Given the description of an element on the screen output the (x, y) to click on. 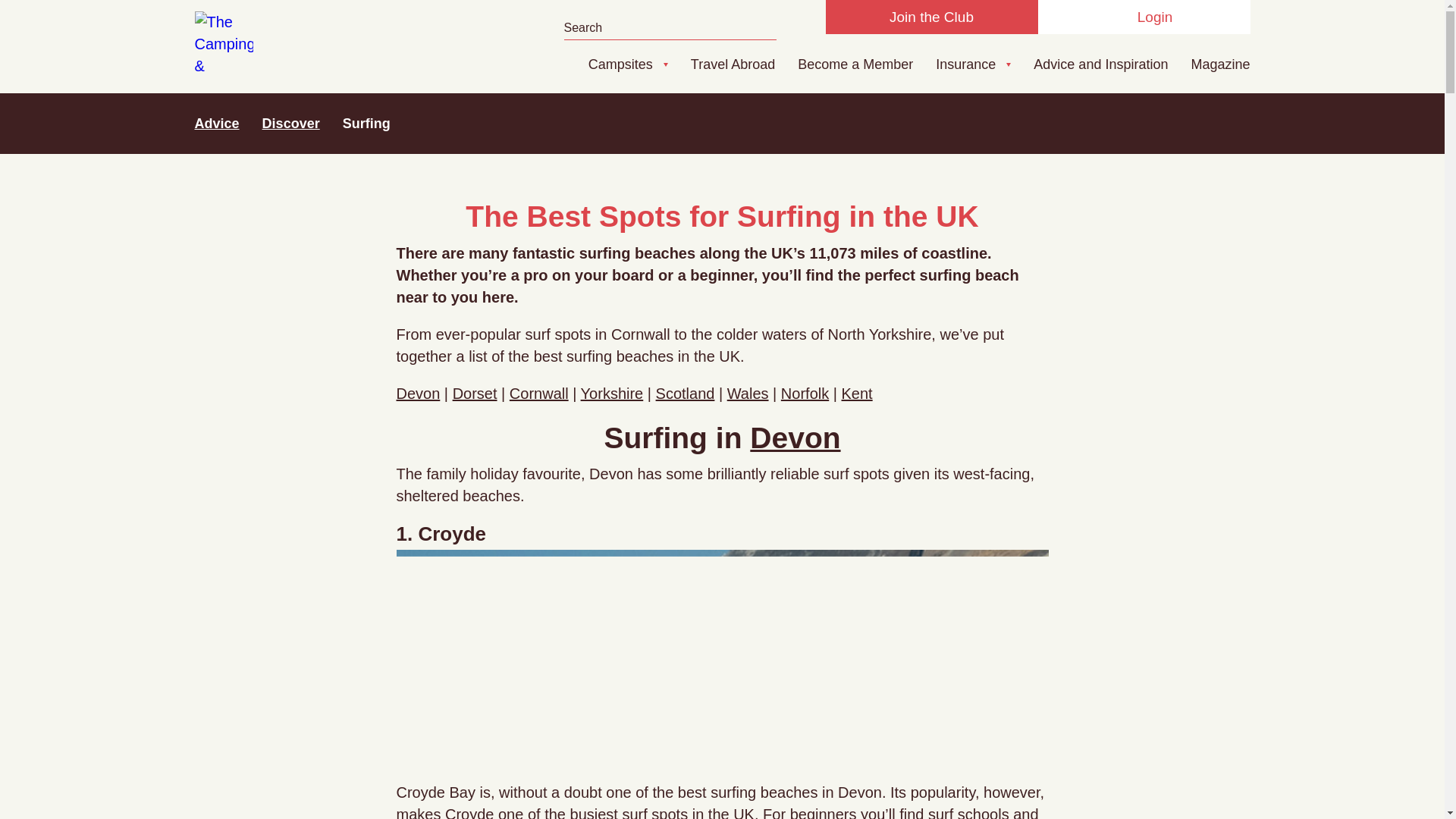
Become a Member (854, 63)
Join the Club (930, 17)
Travel Abroad (732, 63)
Login (1142, 17)
Campsites (620, 63)
Advice and Inspiration (1100, 63)
Insurance (965, 63)
Login (1142, 17)
Join the Club (930, 17)
